Given the description of an element on the screen output the (x, y) to click on. 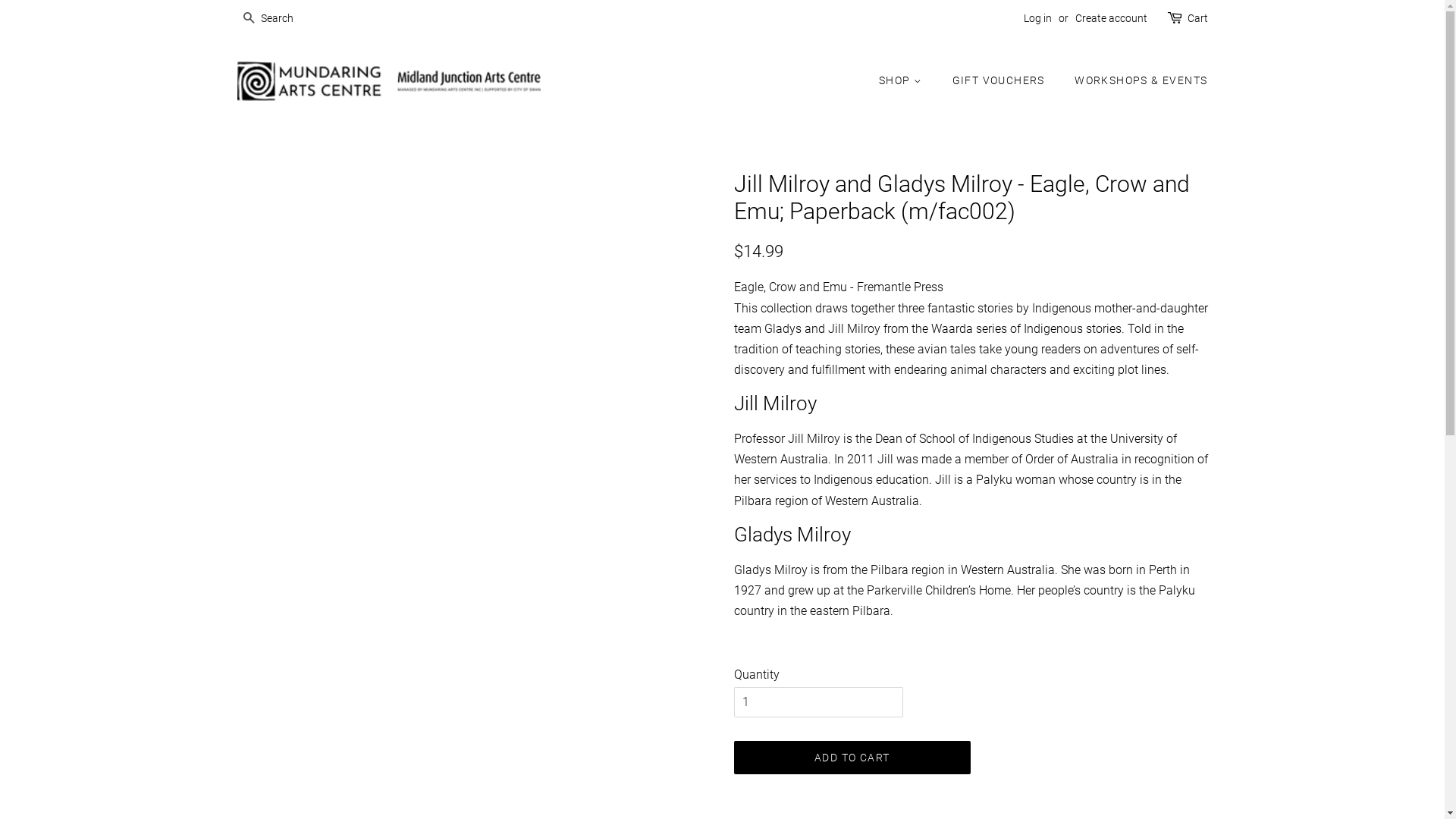
GIFT VOUCHERS Element type: text (1000, 80)
SEARCH Element type: text (248, 18)
Log in Element type: text (1037, 18)
Cart Element type: text (1197, 18)
Create account Element type: text (1111, 18)
ADD TO CART Element type: text (852, 757)
SHOP Element type: text (907, 80)
WORKSHOPS & EVENTS Element type: text (1135, 80)
